Given the description of an element on the screen output the (x, y) to click on. 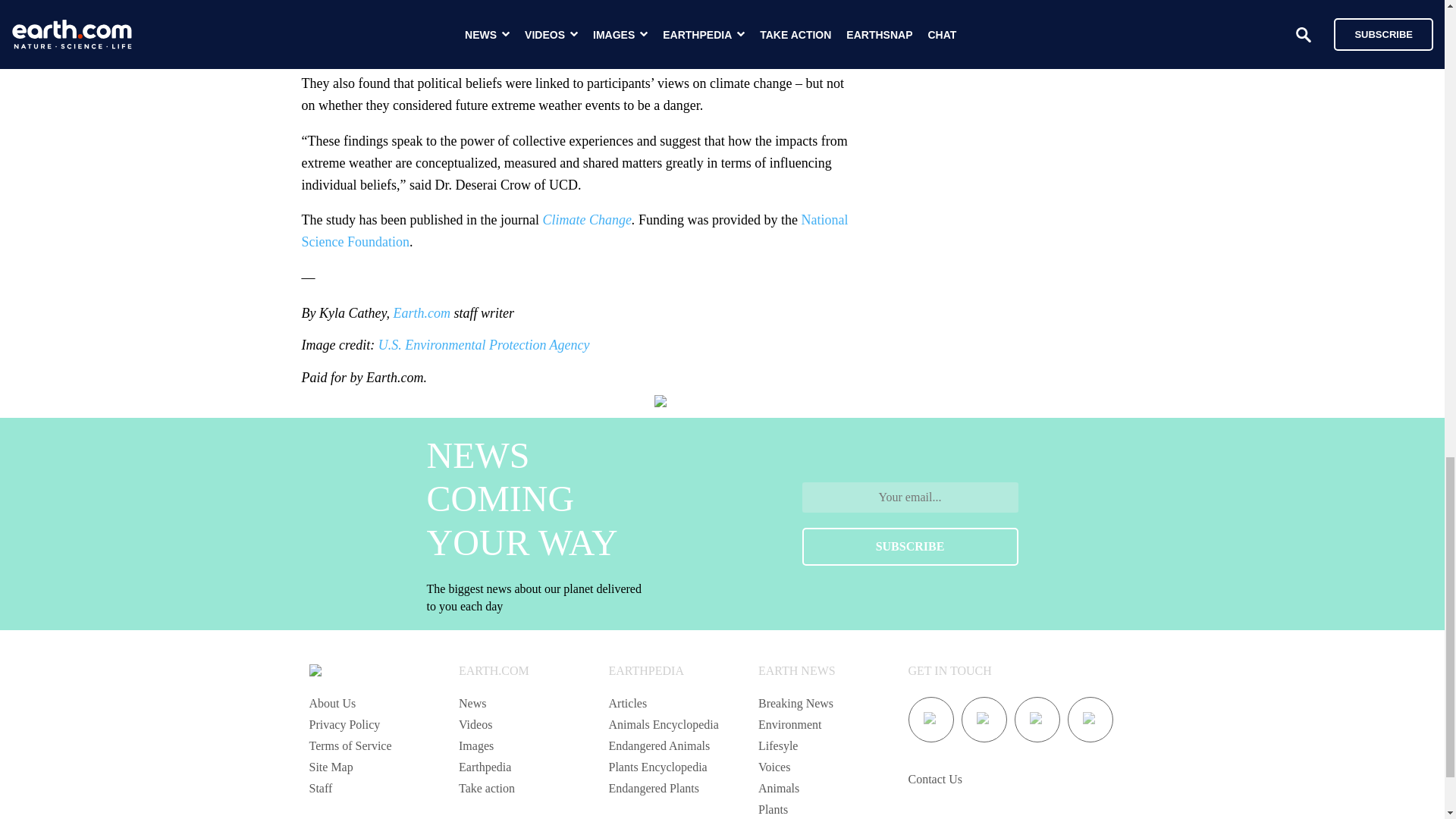
Earth.com (421, 313)
U.S. Environmental Protection Agency (483, 344)
Climate Change (586, 219)
National Science Foundation (574, 230)
